Given the description of an element on the screen output the (x, y) to click on. 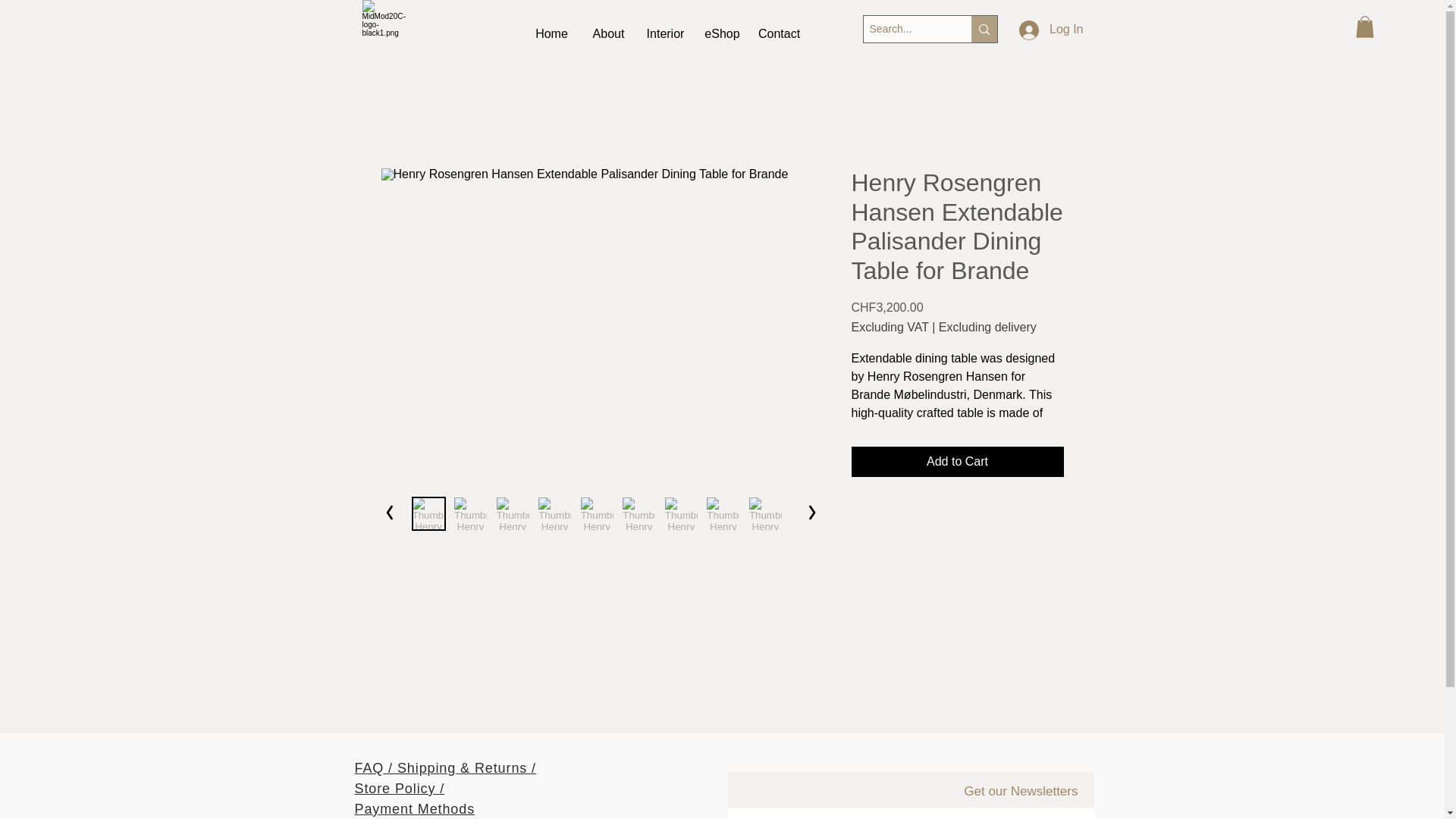
About (608, 34)
Contact (779, 34)
Interior (665, 34)
Excluding delivery (987, 327)
eShop (722, 34)
Add to Cart (956, 461)
Log In (1051, 29)
Home (550, 34)
